Given the description of an element on the screen output the (x, y) to click on. 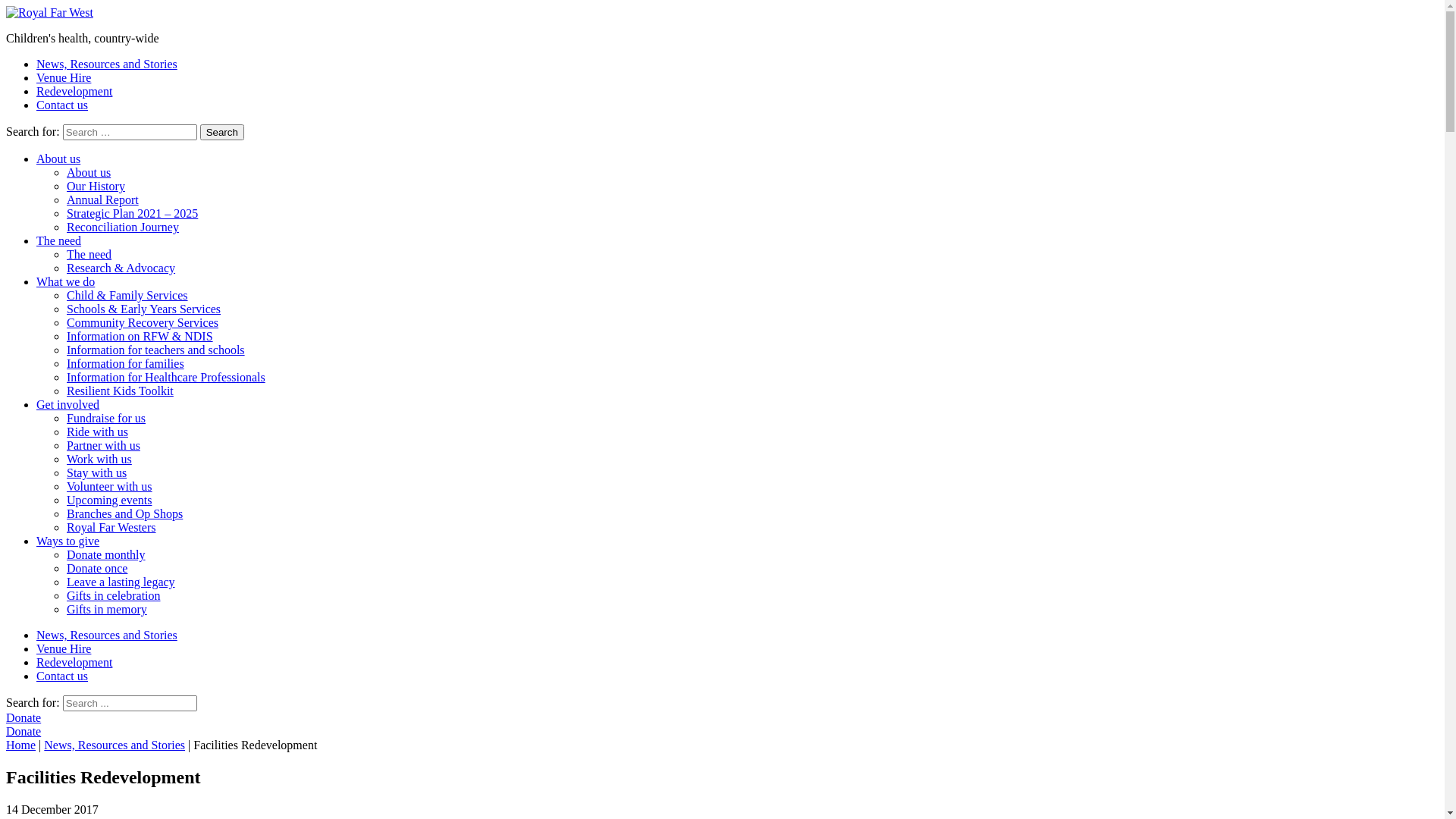
The need Element type: text (88, 253)
Branches and Op Shops Element type: text (124, 513)
What we do Element type: text (65, 281)
Reconciliation Journey Element type: text (122, 226)
The need Element type: text (58, 240)
Royal Far Westers Element type: text (111, 526)
Ways to give Element type: text (67, 540)
Research & Advocacy Element type: text (120, 267)
Donate Element type: text (23, 730)
Child & Family Services Element type: text (127, 294)
News, Resources and Stories Element type: text (114, 744)
Volunteer with us Element type: text (109, 486)
About us Element type: text (88, 172)
Ride with us Element type: text (97, 431)
Community Recovery Services Element type: text (142, 322)
Leave a lasting legacy Element type: text (120, 581)
News, Resources and Stories Element type: text (106, 63)
Information for teachers and schools Element type: text (155, 349)
Information for Healthcare Professionals Element type: text (165, 376)
News, Resources and Stories Element type: text (106, 634)
Get involved Element type: text (67, 404)
Partner with us Element type: text (103, 445)
Annual Report Element type: text (102, 199)
Donate Element type: text (23, 717)
Information on RFW & NDIS Element type: text (139, 335)
Redevelopment Element type: text (74, 90)
Schools & Early Years Services Element type: text (143, 308)
About us Element type: text (58, 158)
Fundraise for us Element type: text (105, 417)
Donate monthly Element type: text (105, 554)
Gifts in memory Element type: text (106, 608)
Resilient Kids Toolkit Element type: text (119, 390)
Contact us Element type: text (61, 104)
Donate once Element type: text (96, 567)
Venue Hire Element type: text (63, 77)
Information for families Element type: text (125, 363)
Gifts in celebration Element type: text (113, 595)
Stay with us Element type: text (96, 472)
Home Element type: text (20, 744)
Work with us Element type: text (98, 458)
Contact us Element type: text (61, 675)
Our History Element type: text (95, 185)
Redevelopment Element type: text (74, 661)
Venue Hire Element type: text (63, 648)
Search Element type: text (222, 132)
Upcoming events Element type: text (108, 499)
